Given the description of an element on the screen output the (x, y) to click on. 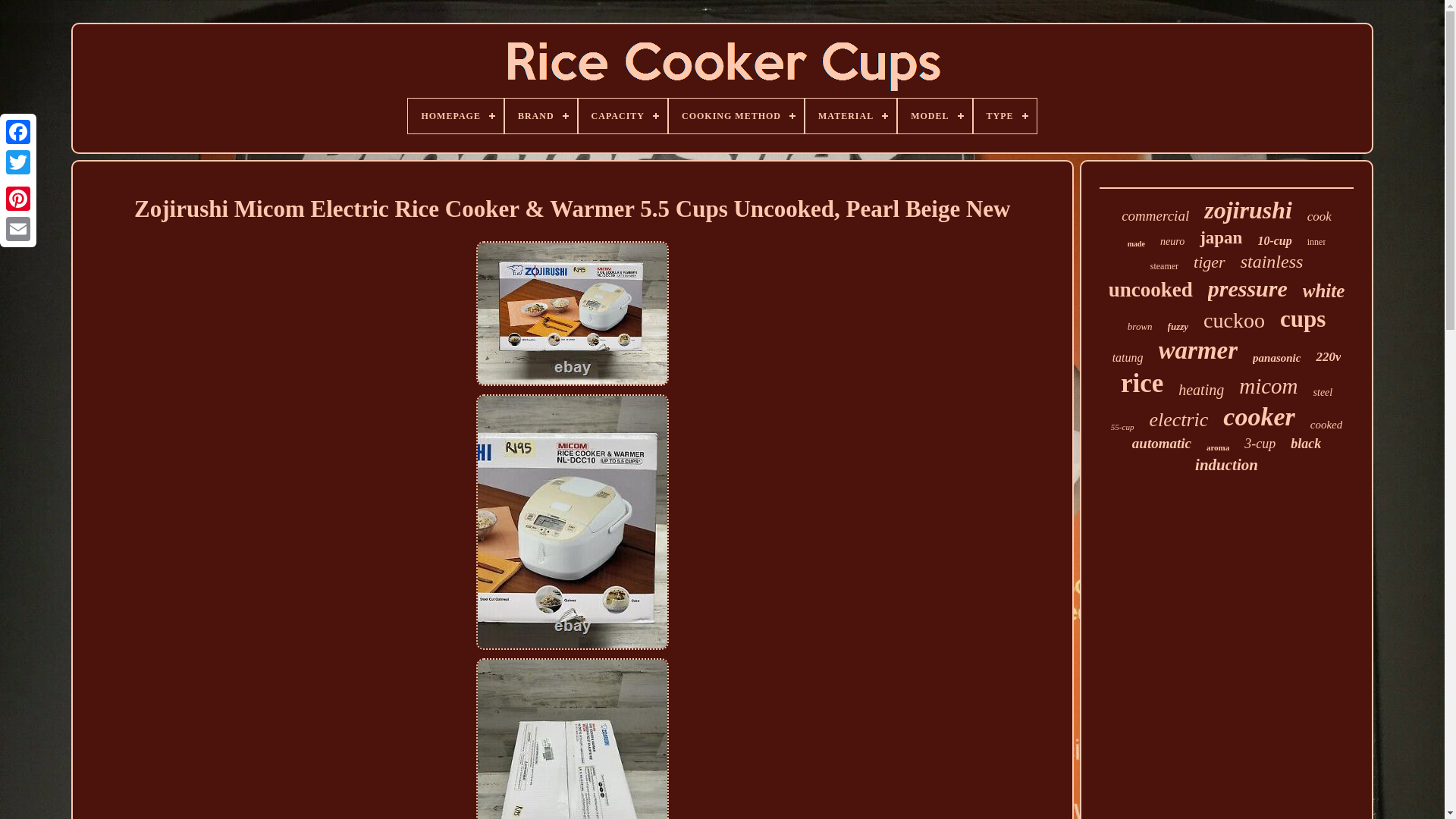
HOMEPAGE (454, 115)
BRAND (540, 115)
CAPACITY (622, 115)
